Given the description of an element on the screen output the (x, y) to click on. 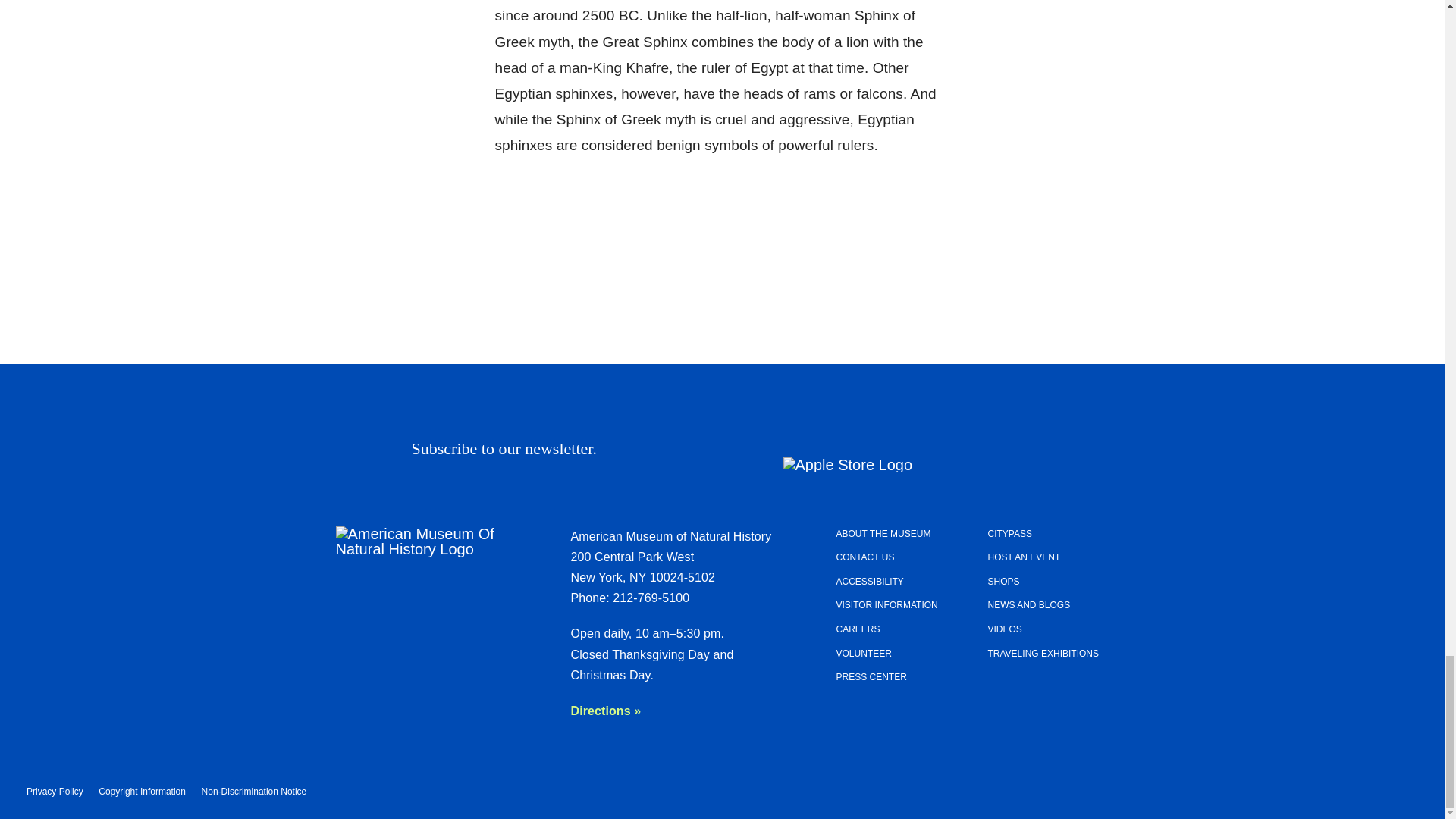
Twitter Profile (834, 434)
YouTube Channel (792, 434)
Subscribe to our newsletter. (691, 449)
Facebook Profile (874, 434)
